Given the description of an element on the screen output the (x, y) to click on. 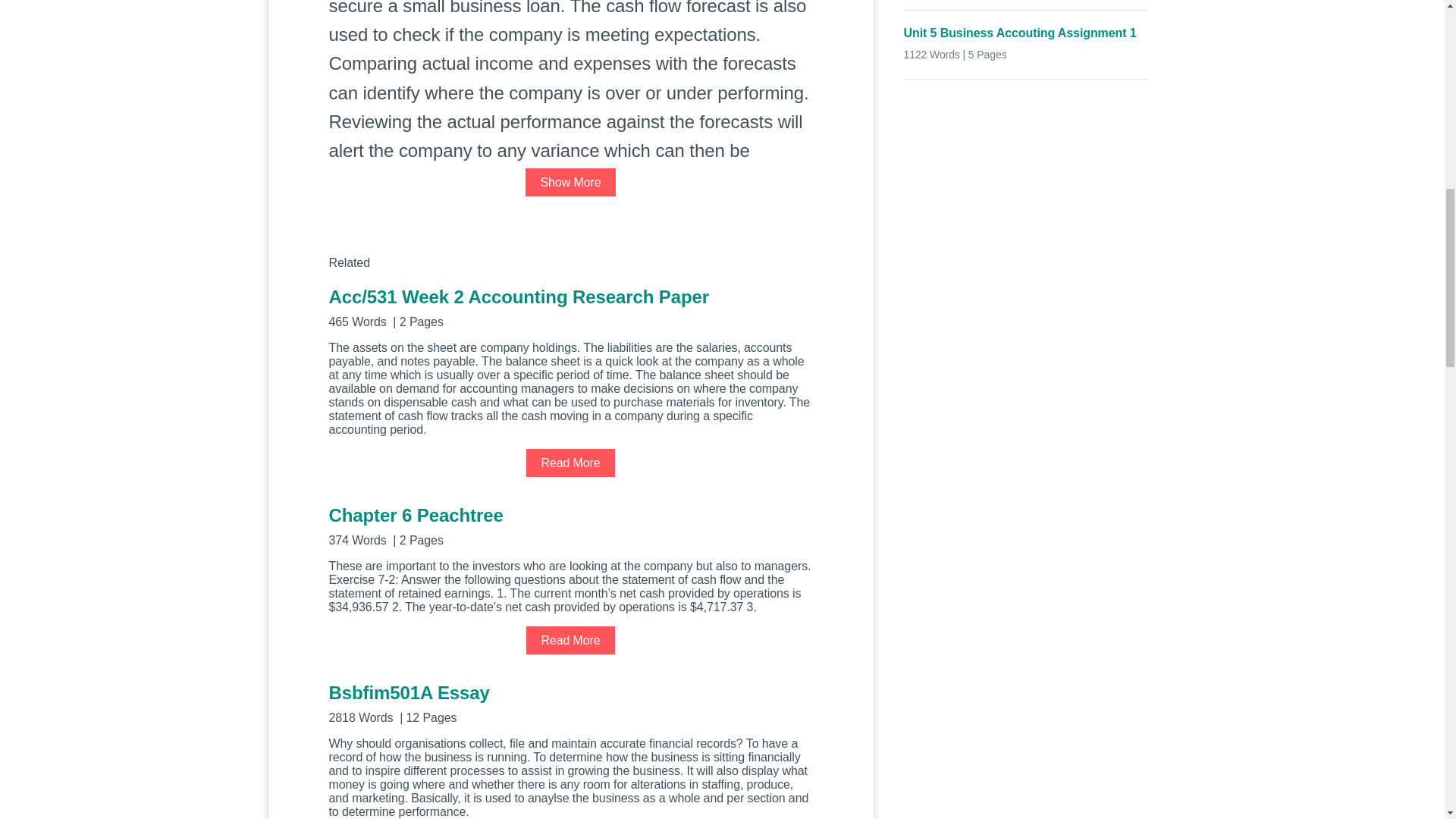
Show More (569, 182)
Unit 5 Business Accouting Assignment 1 (1026, 33)
Read More (569, 640)
Bsbfim501A Essay (570, 701)
Chapter 6 Peachtree (570, 525)
Read More (569, 462)
